Given the description of an element on the screen output the (x, y) to click on. 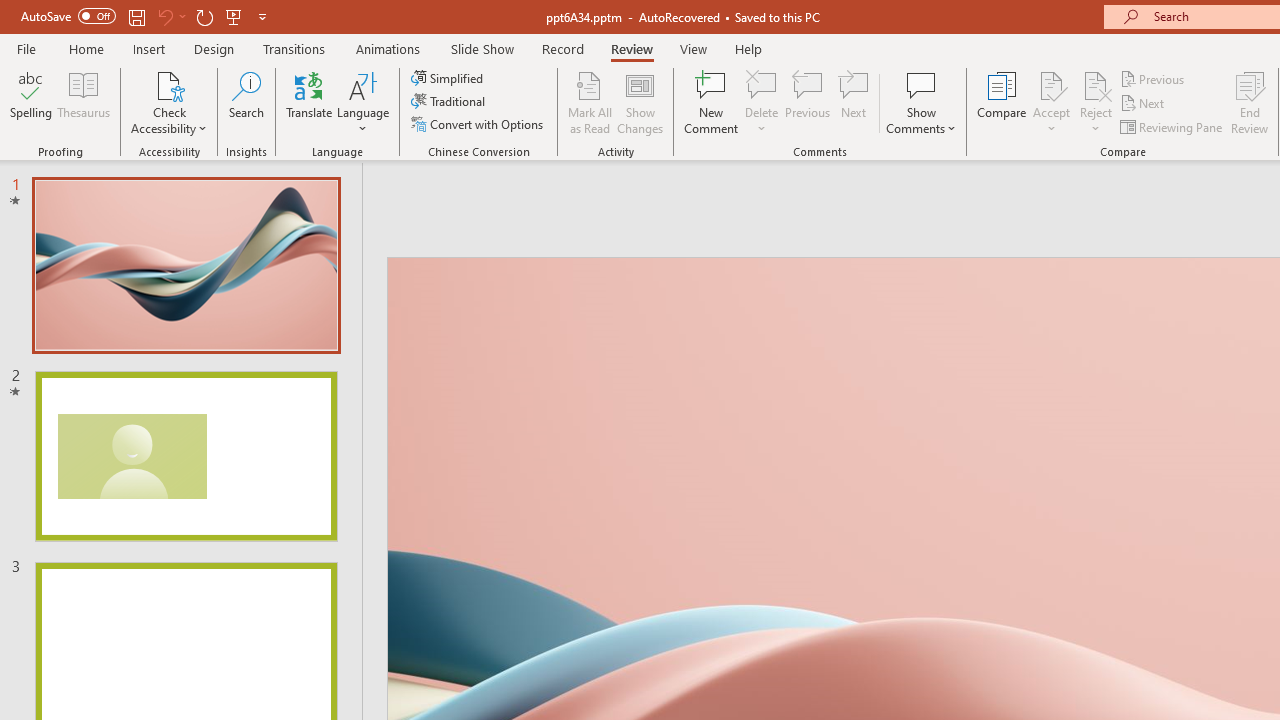
Translate (309, 102)
End Review (1249, 102)
